Given the description of an element on the screen output the (x, y) to click on. 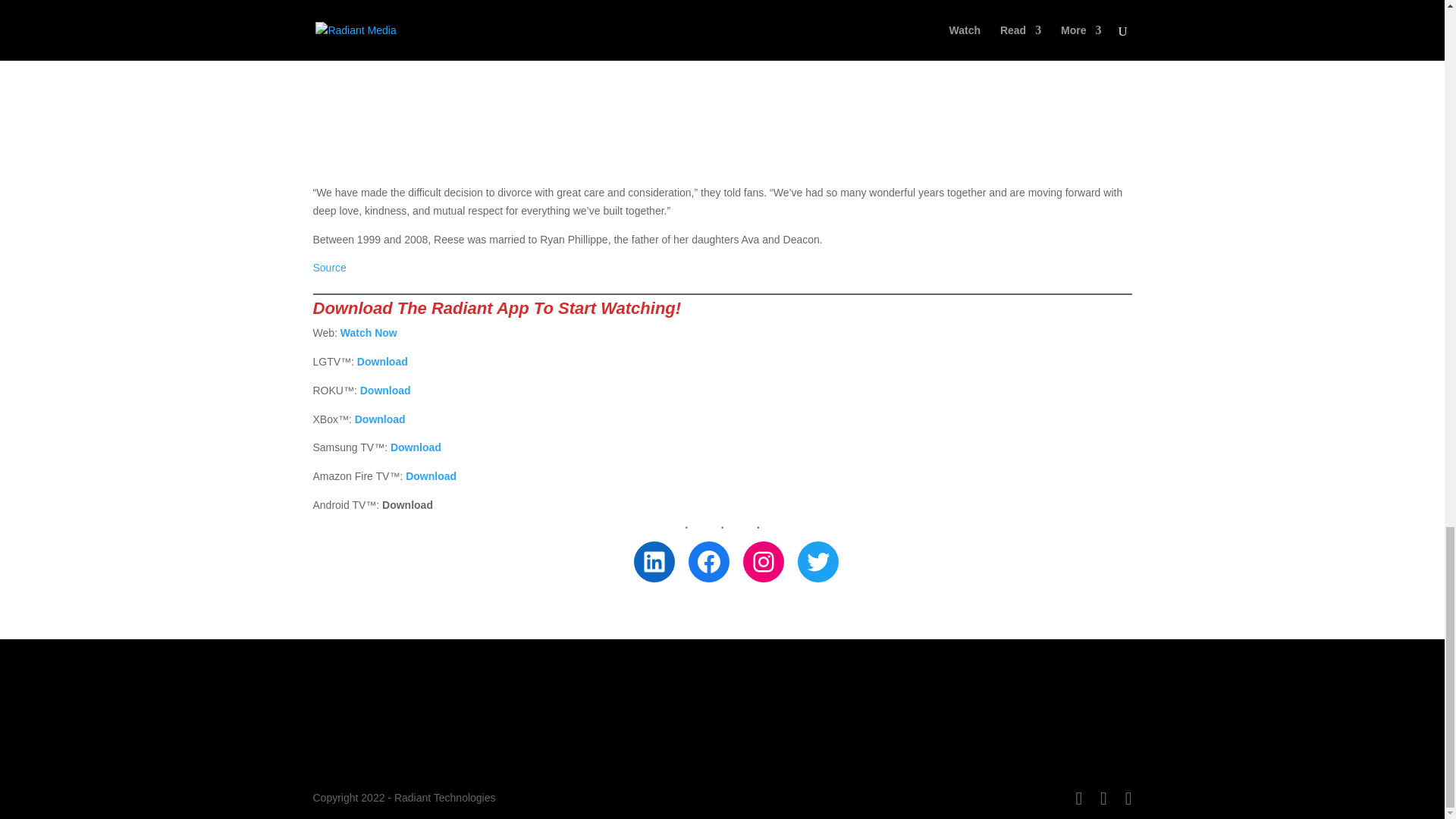
Watch Now (368, 332)
Download (384, 390)
Download (431, 476)
Download (415, 447)
Download (381, 361)
LinkedIn (654, 561)
Facebook (708, 561)
Instagram (763, 561)
Download (380, 419)
Source (329, 267)
